Given the description of an element on the screen output the (x, y) to click on. 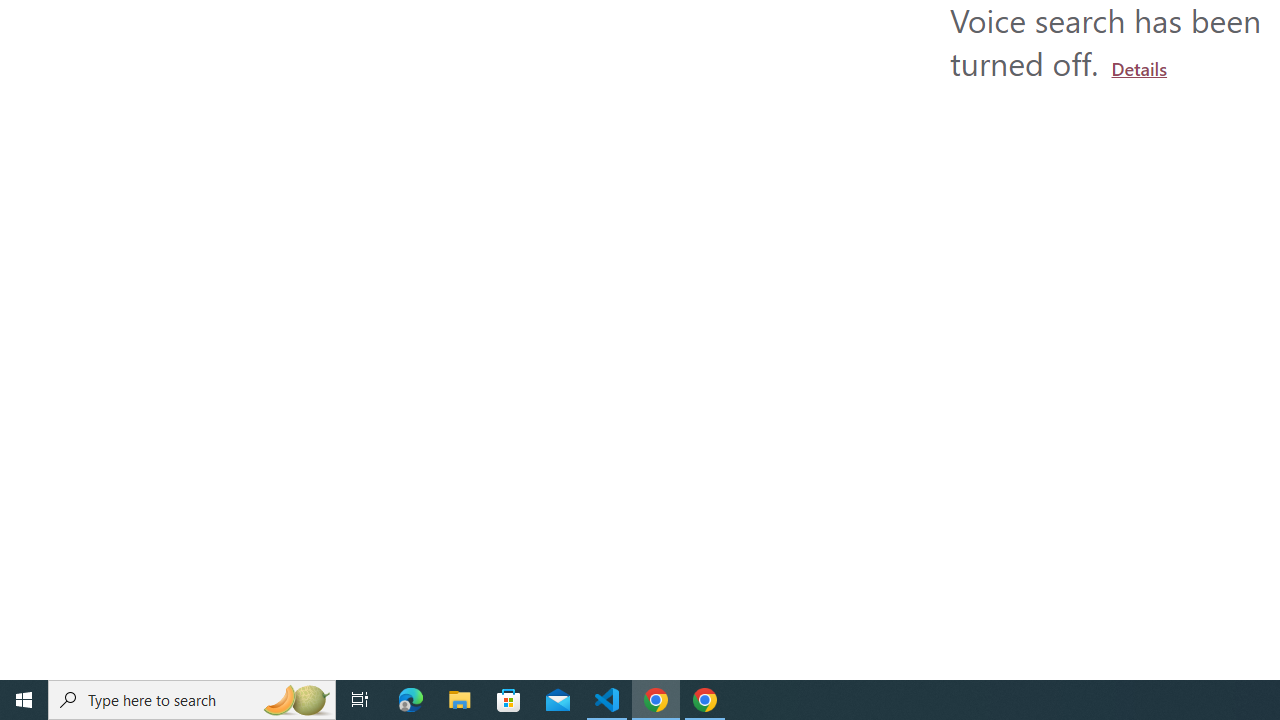
Learn more about using a microphone (1139, 68)
